Given the description of an element on the screen output the (x, y) to click on. 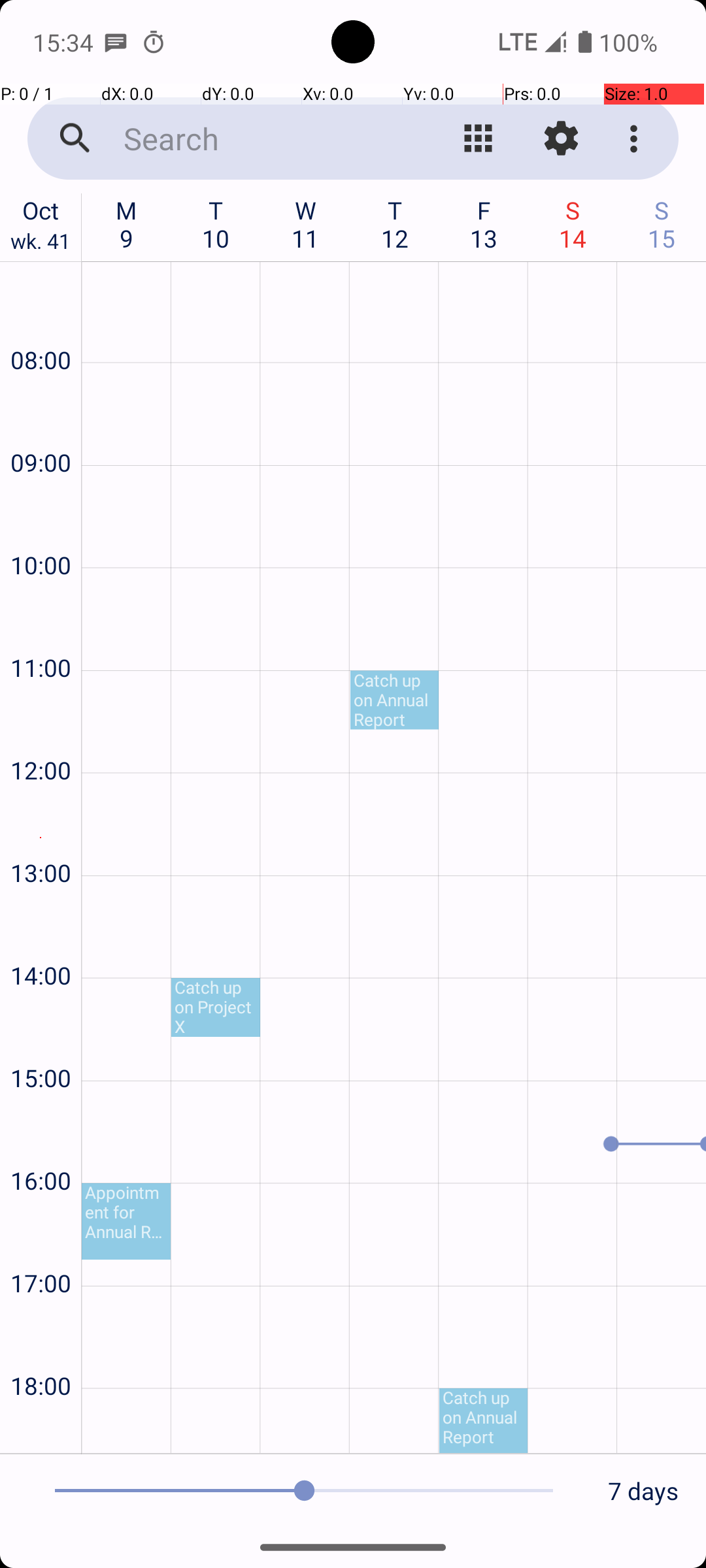
wk. 41 Element type: android.widget.TextView (40, 243)
7 days Element type: android.widget.TextView (642, 1490)
10:00 Element type: android.widget.TextView (40, 529)
12:00 Element type: android.widget.TextView (40, 735)
14:00 Element type: android.widget.TextView (40, 940)
15:00 Element type: android.widget.TextView (40, 1042)
18:00 Element type: android.widget.TextView (40, 1350)
19:00 Element type: android.widget.TextView (40, 1428)
M
9 Element type: android.widget.TextView (126, 223)
T
10 Element type: android.widget.TextView (215, 223)
W
11 Element type: android.widget.TextView (305, 223)
T
12 Element type: android.widget.TextView (394, 223)
F
13 Element type: android.widget.TextView (483, 223)
S
14 Element type: android.widget.TextView (572, 223)
S
15 Element type: android.widget.TextView (661, 223)
Appointment for Annual Report Element type: android.widget.TextView (125, 1221)
